Given the description of an element on the screen output the (x, y) to click on. 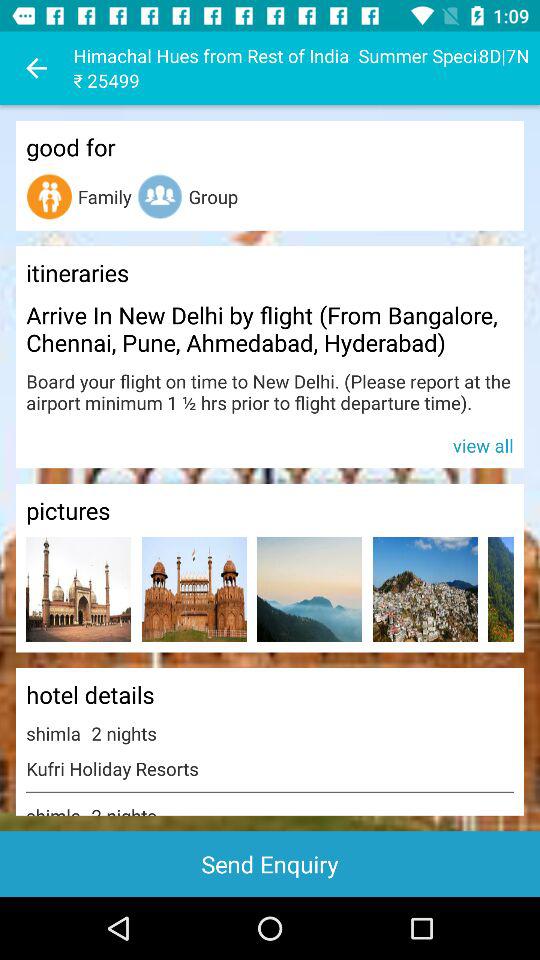
open up picture (78, 589)
